Given the description of an element on the screen output the (x, y) to click on. 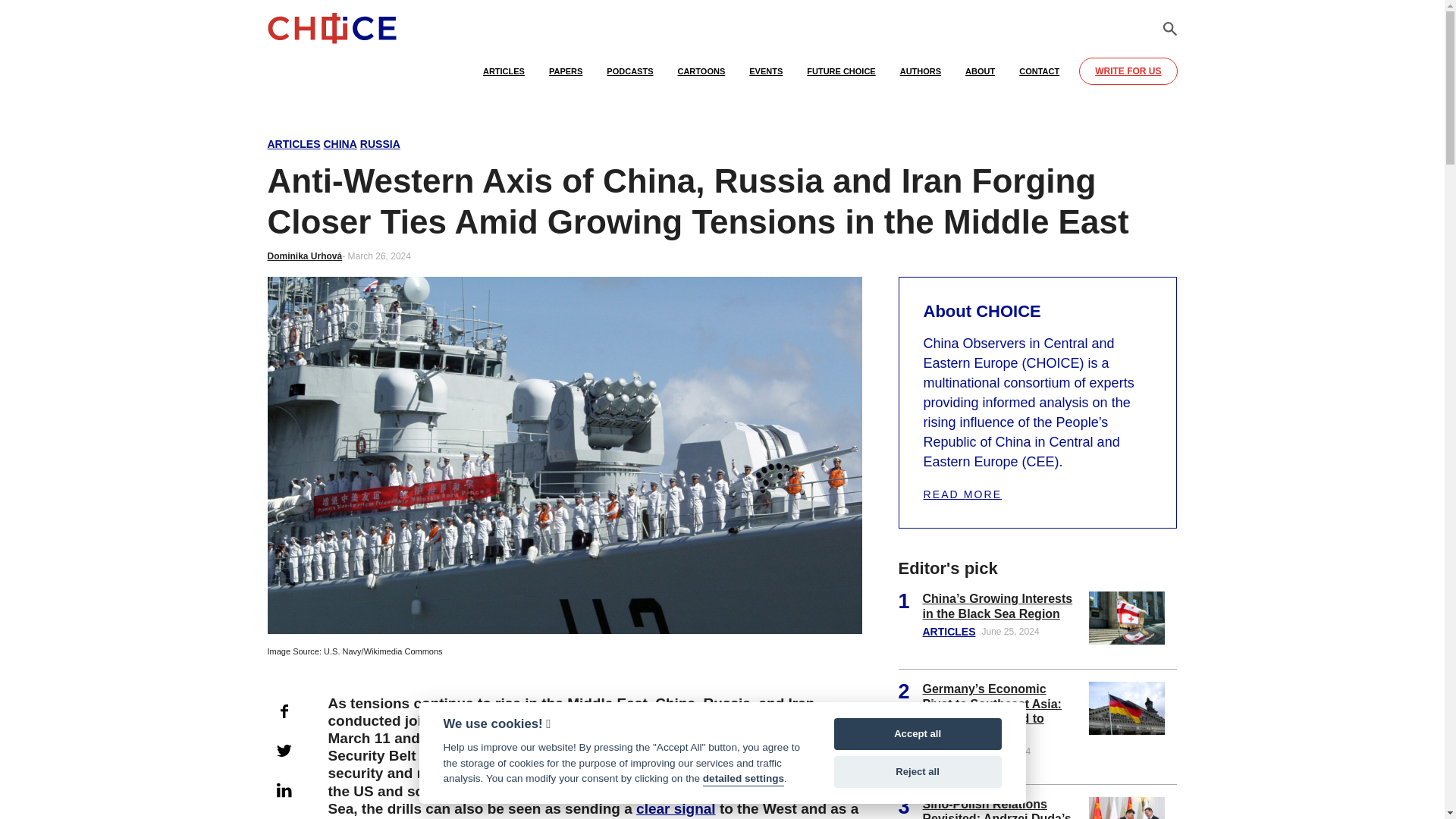
ARTICLES (503, 78)
PAPERS (565, 78)
Share on Twitter (282, 750)
CARTOONS (700, 78)
Share on LinkedIn (282, 789)
RUSSIA (379, 143)
PODCASTS (629, 78)
Share by Email (282, 816)
clear signal (676, 808)
was described (528, 755)
AUTHORS (920, 78)
Share on Facebook (282, 711)
CHINA (339, 143)
EVENTS (765, 78)
